Given the description of an element on the screen output the (x, y) to click on. 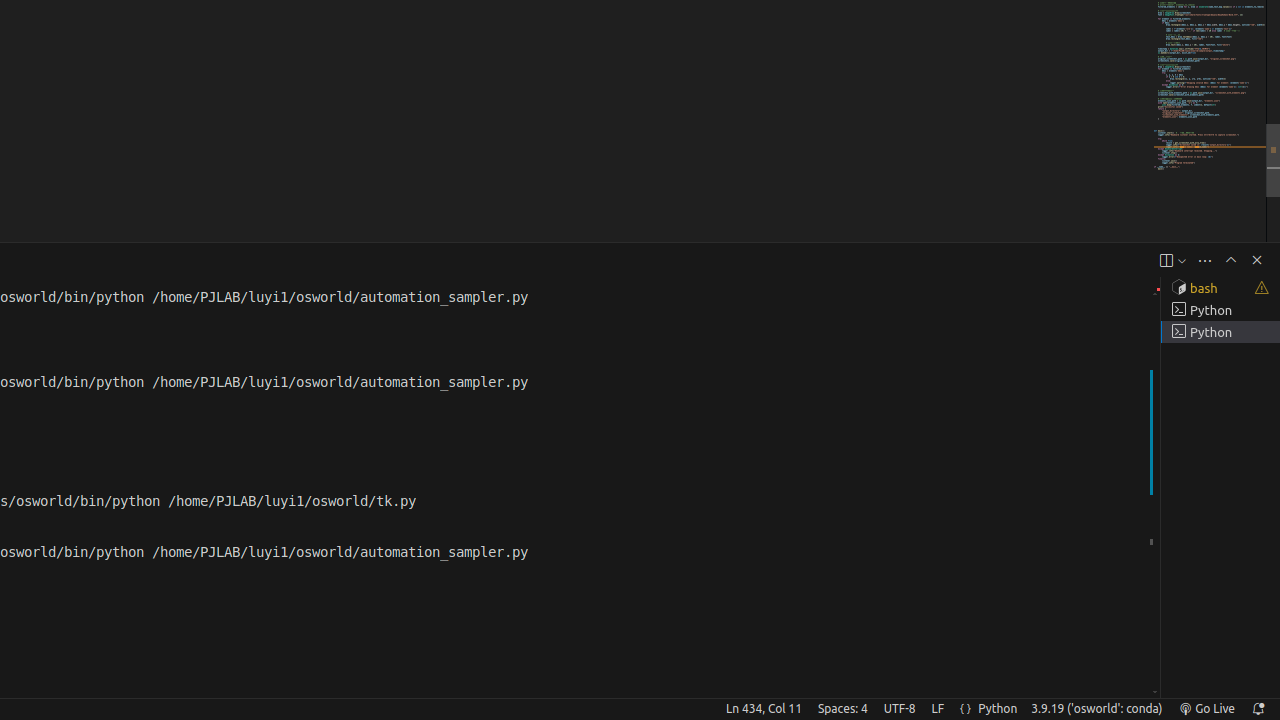
LF Element type: push-button (938, 709)
3.9.19 ('osworld': conda), ~/anaconda3/envs/osworld/bin/python Element type: push-button (1097, 709)
